Given the description of an element on the screen output the (x, y) to click on. 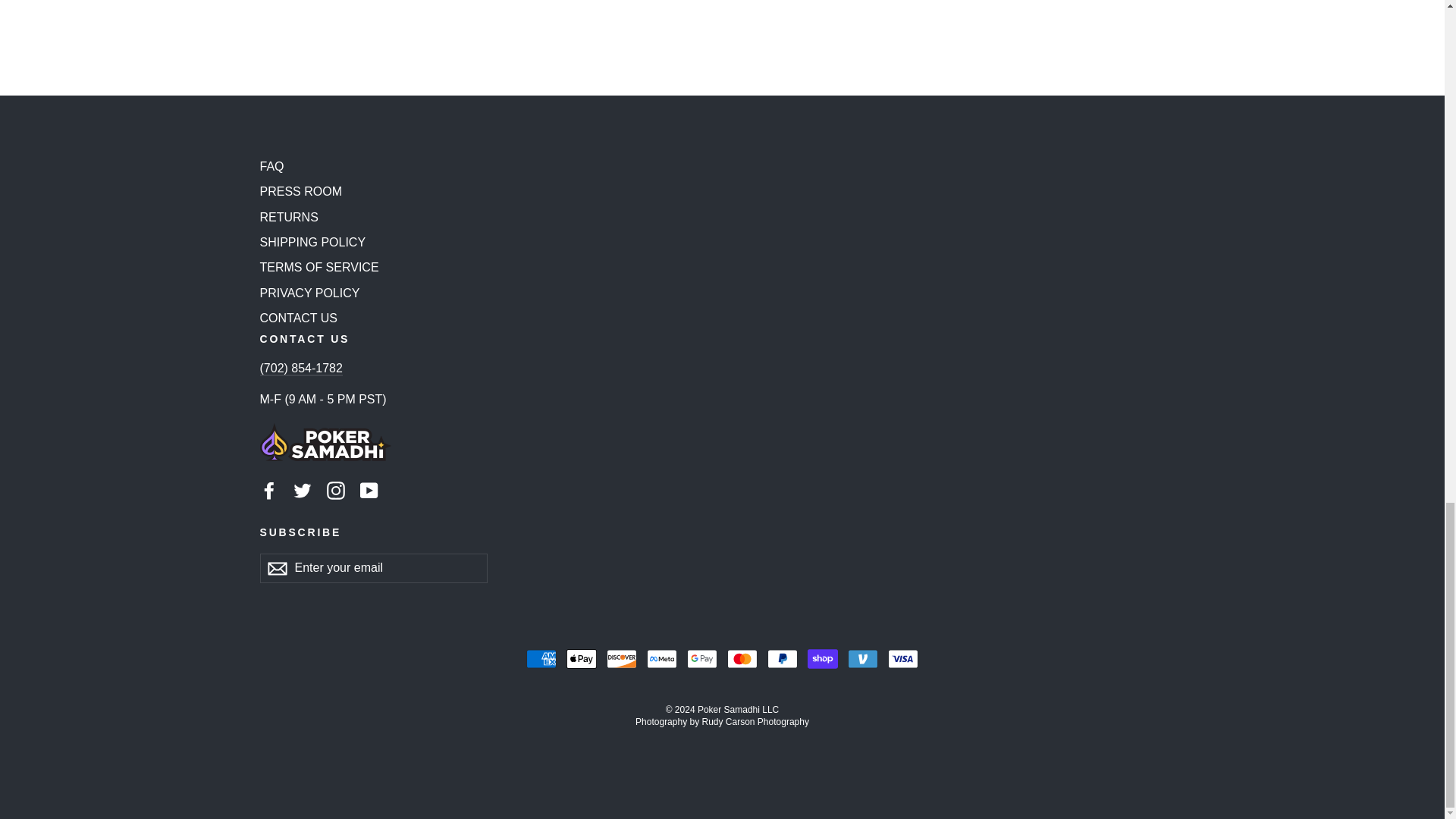
Poker Samadhi on Twitter (302, 489)
American Express (540, 658)
Meta Pay (661, 658)
Poker Samadhi on YouTube (368, 489)
PayPal (782, 658)
Poker Samadhi on Instagram (335, 489)
Google Pay (702, 658)
Mastercard (741, 658)
Apple Pay (581, 658)
Poker Samadhi on Facebook (268, 489)
Discover (622, 658)
